Given the description of an element on the screen output the (x, y) to click on. 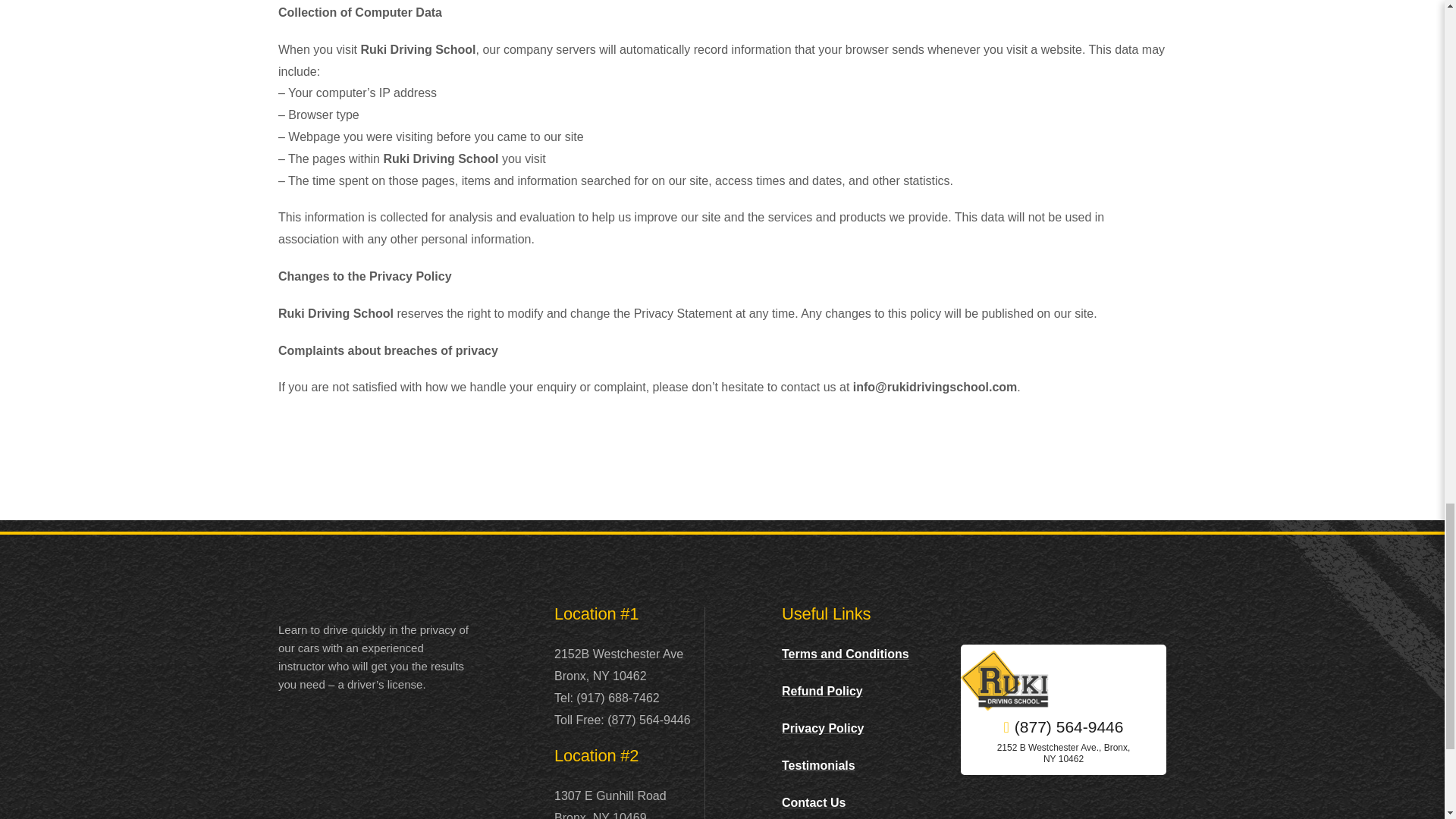
Testimonials (818, 765)
Contact Us (813, 802)
Terms and Conditions (844, 653)
Refund Policy (822, 690)
Privacy Policy (822, 727)
